Given the description of an element on the screen output the (x, y) to click on. 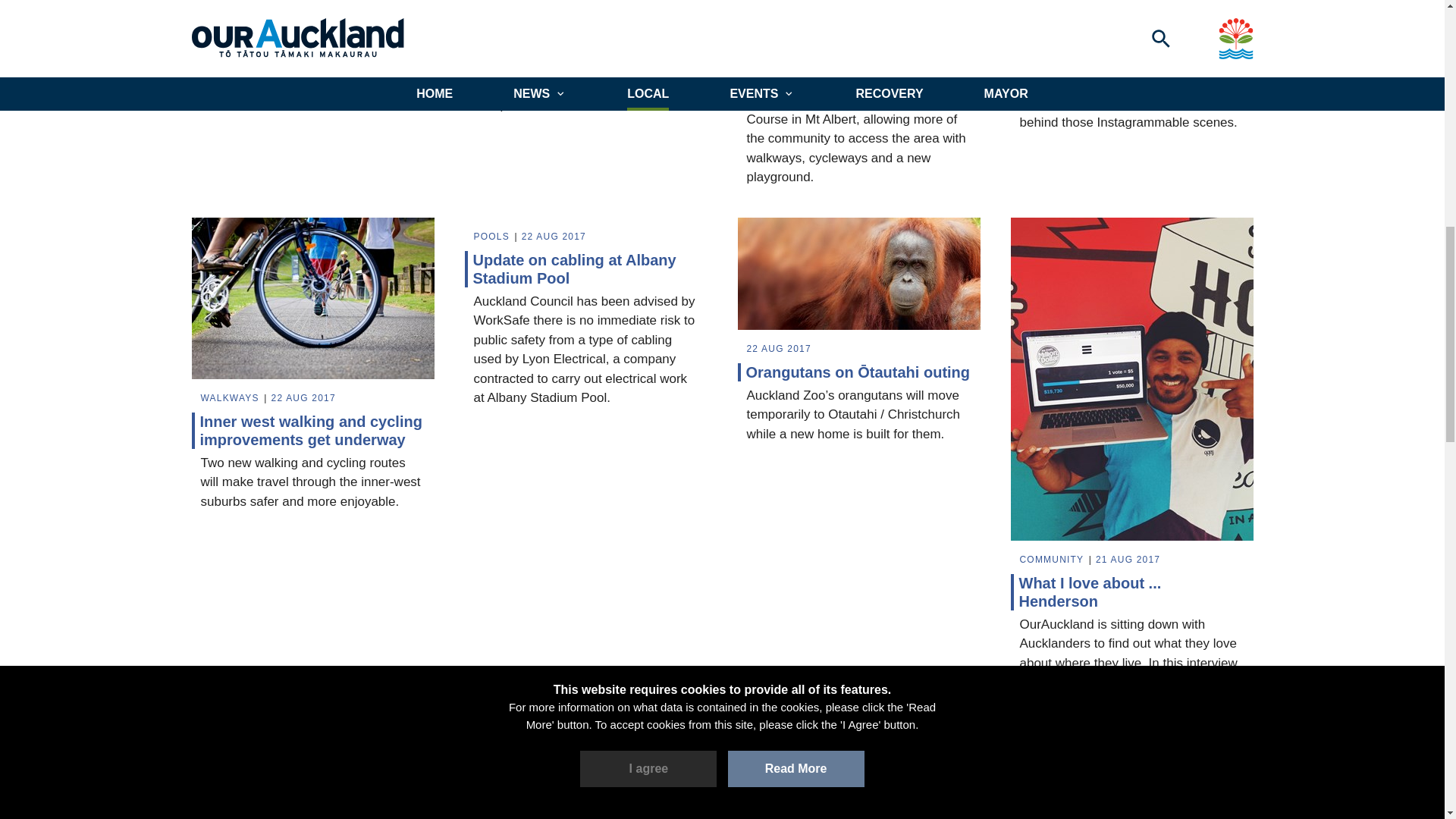
Get ready to roll! (585, 24)
ENVIRONMENT (513, 3)
